Given the description of an element on the screen output the (x, y) to click on. 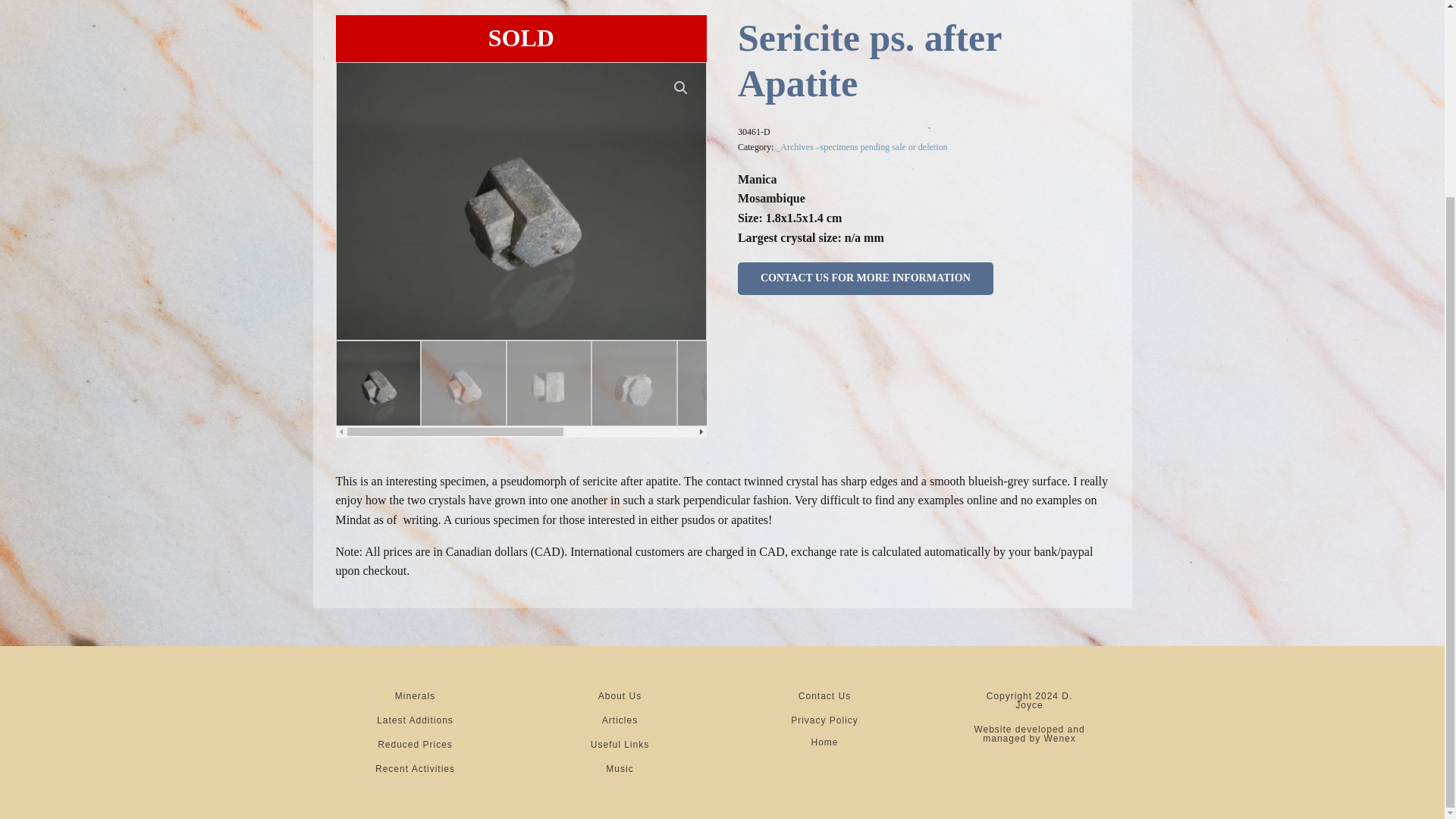
30461 (521, 201)
Minerals (414, 695)
30461 (890, 201)
CONTACT US FOR MORE INFORMATION (865, 278)
